Given the description of an element on the screen output the (x, y) to click on. 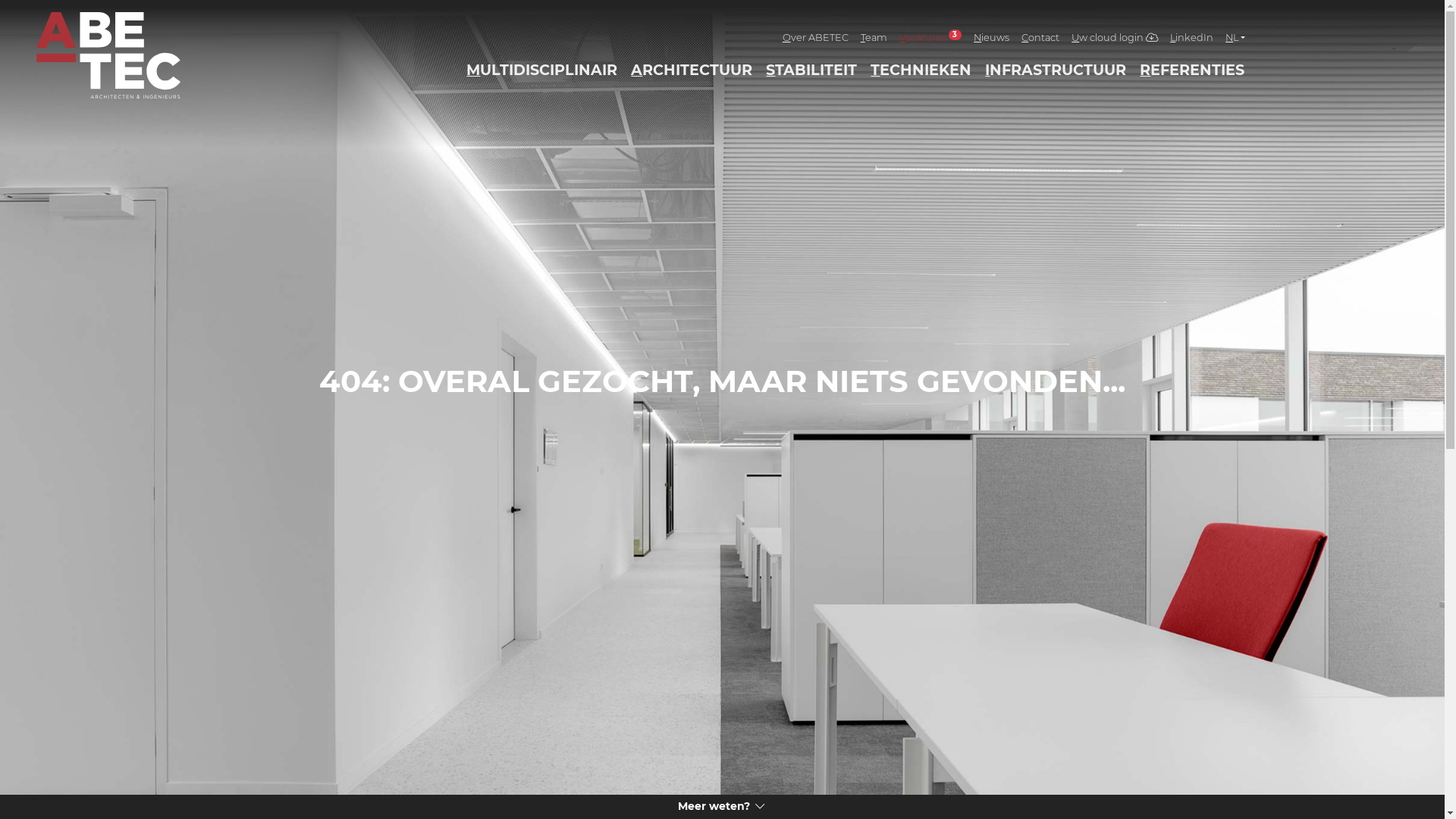
STABILITEIT Element type: text (811, 69)
REFERENTIES Element type: text (1191, 69)
TECHNIEKEN Element type: text (920, 69)
Vacatures 3 Element type: text (930, 37)
LinkedIn Element type: text (1191, 37)
MULTIDISCIPLINAIR Element type: text (541, 69)
INFRASTRUCTUUR Element type: text (1055, 69)
Nieuws Element type: text (991, 37)
Contact Element type: text (1040, 37)
ARCHITECTUUR Element type: text (691, 69)
Uw vertrouwde partner voor een waaier aan bouwprojecten Element type: hover (108, 55)
Team Element type: text (873, 37)
Over ABETEC Element type: text (815, 37)
Uw cloud login Element type: text (1114, 37)
Meer weten? Element type: text (722, 806)
NL Element type: text (1235, 37)
